Given the description of an element on the screen output the (x, y) to click on. 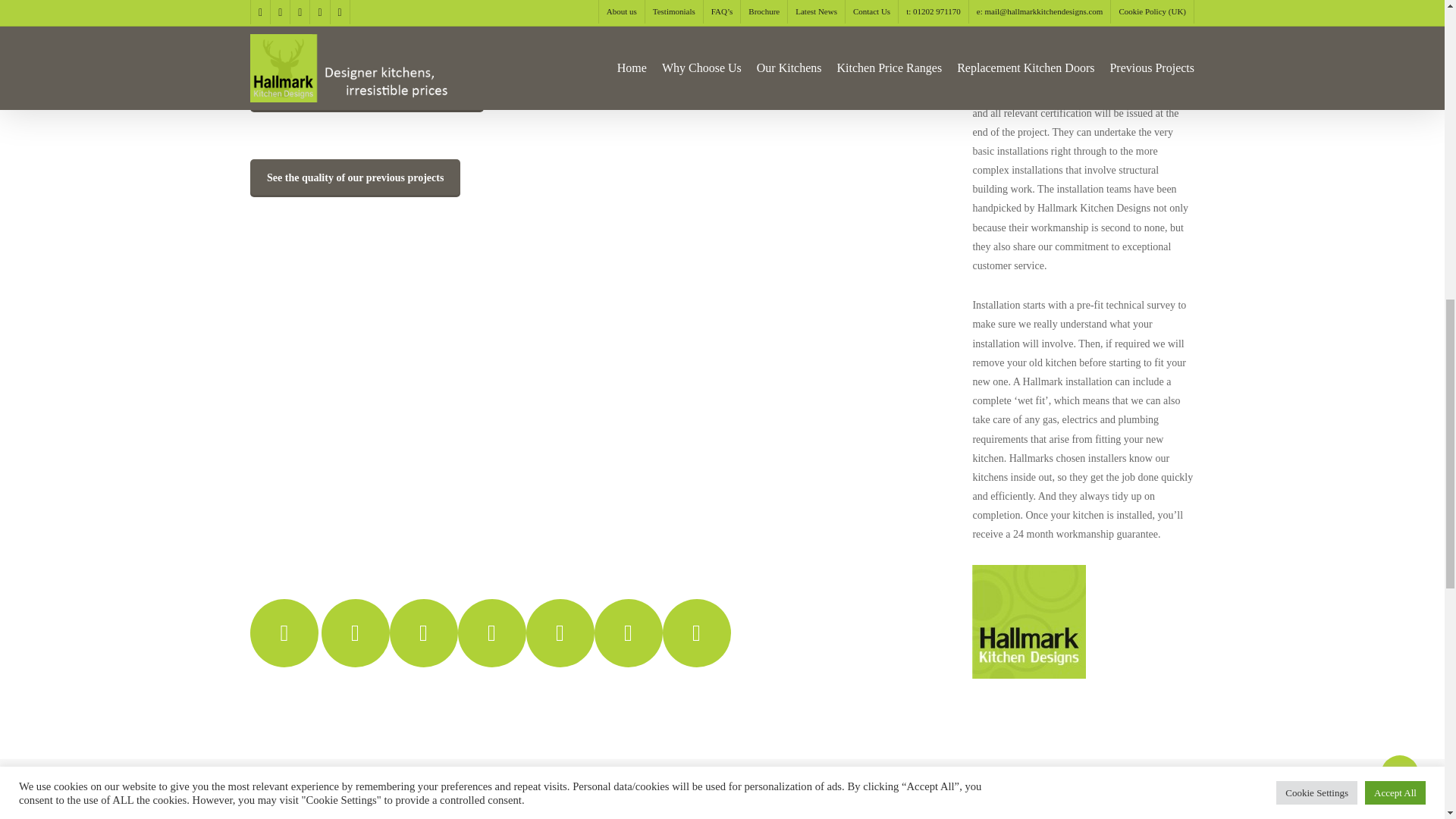
Previous Project (294, 804)
BOOK YOUR FREE DESIGN VISIT NOW (366, 93)
write to us (424, 643)
facebook (491, 643)
you tube (696, 643)
contact us (355, 643)
twitter (559, 643)
linked in (628, 643)
See the quality of our previous projects (355, 177)
